Given the description of an element on the screen output the (x, y) to click on. 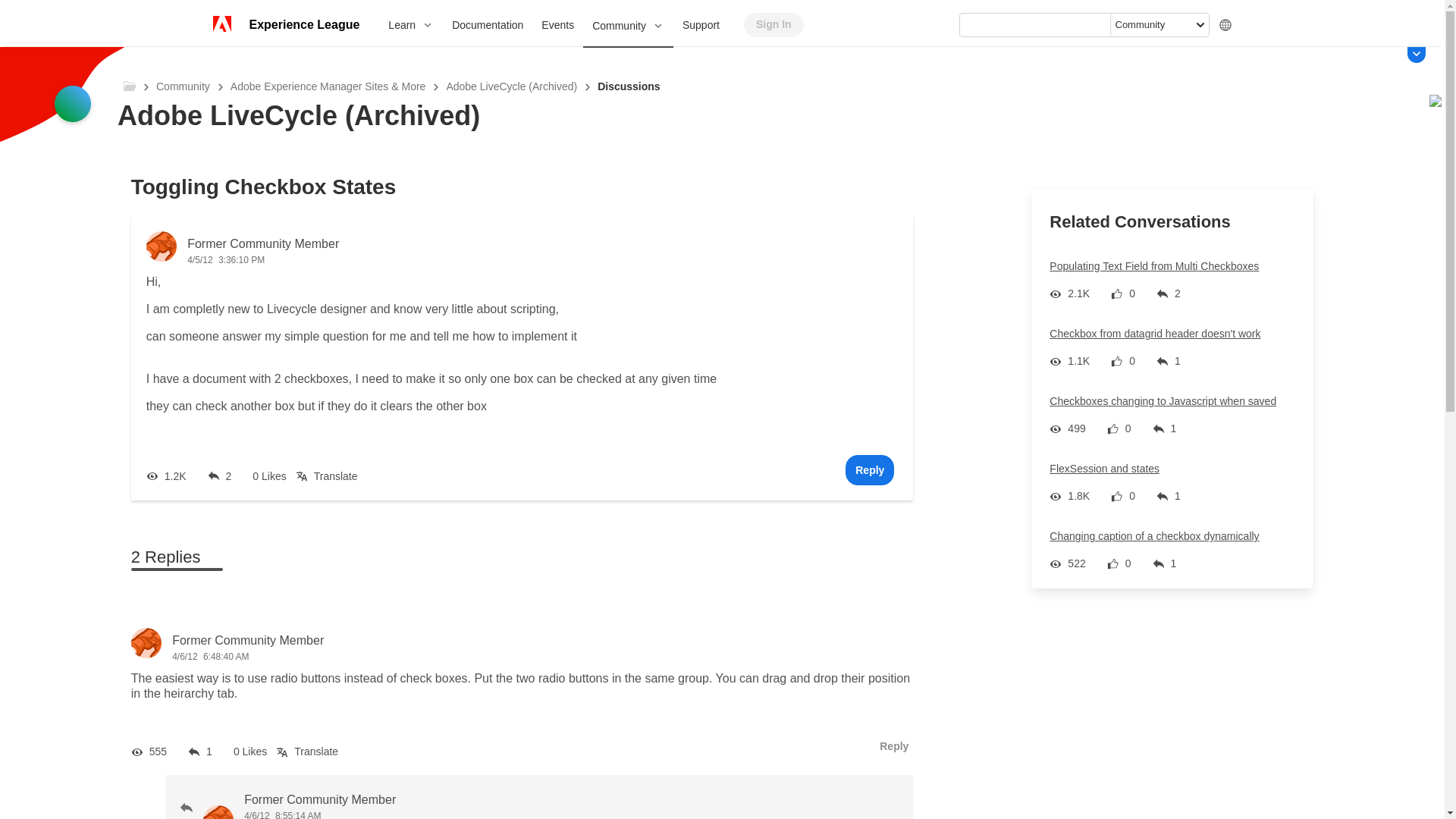
Documentation (487, 24)
Learn (410, 24)
Experience League (304, 24)
Events (557, 24)
Community (627, 25)
Experience League (304, 24)
Learn (410, 24)
